Given the description of an element on the screen output the (x, y) to click on. 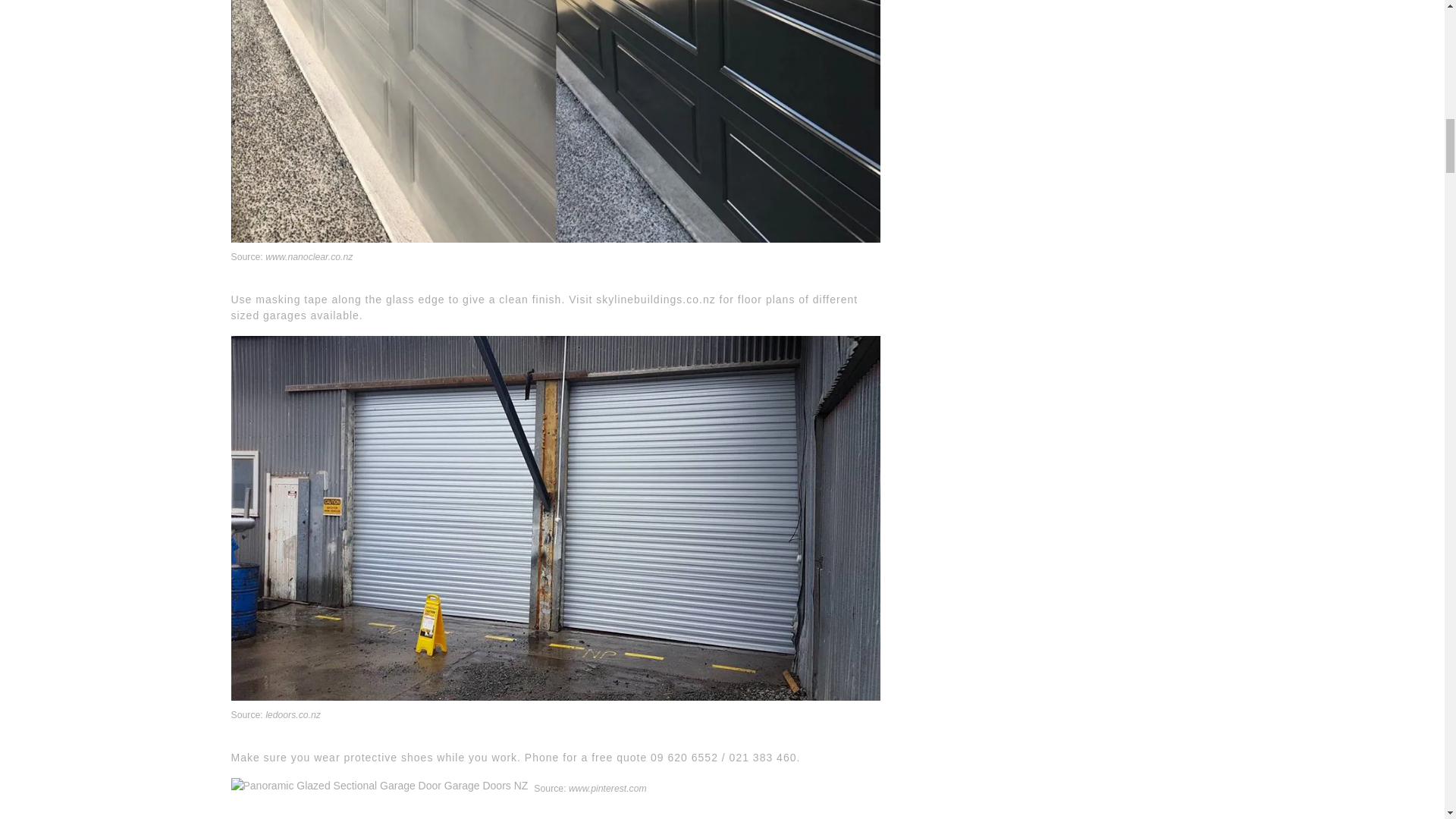
Painting Garage Door Nz 6 (378, 785)
